Given the description of an element on the screen output the (x, y) to click on. 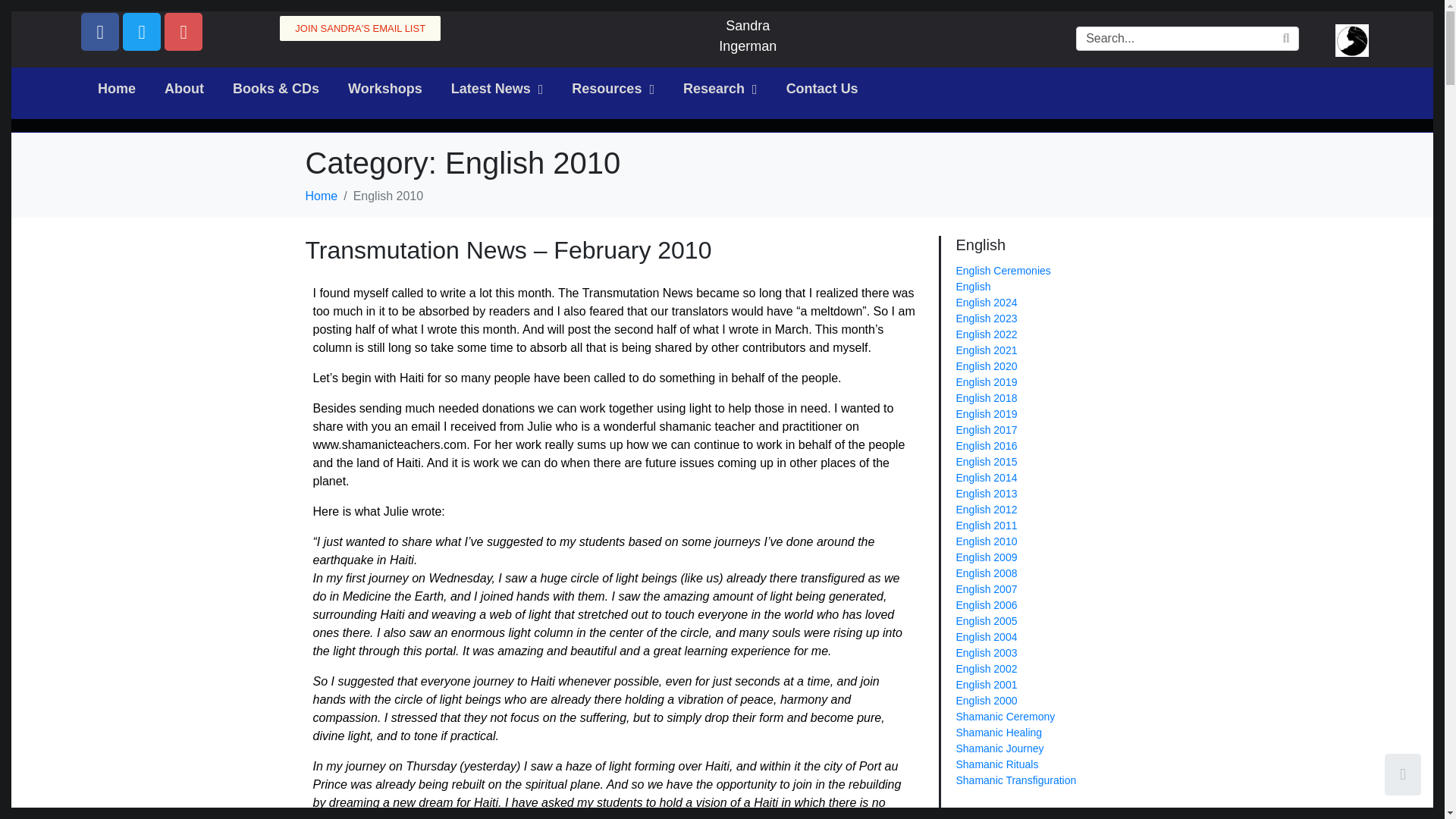
About (183, 89)
Workshops (384, 89)
Resources (612, 89)
Latest News (496, 89)
Home (115, 89)
JOIN SANDRA'S EMAIL LIST (360, 27)
cropped-logo-2.jpg (1351, 40)
